Given the description of an element on the screen output the (x, y) to click on. 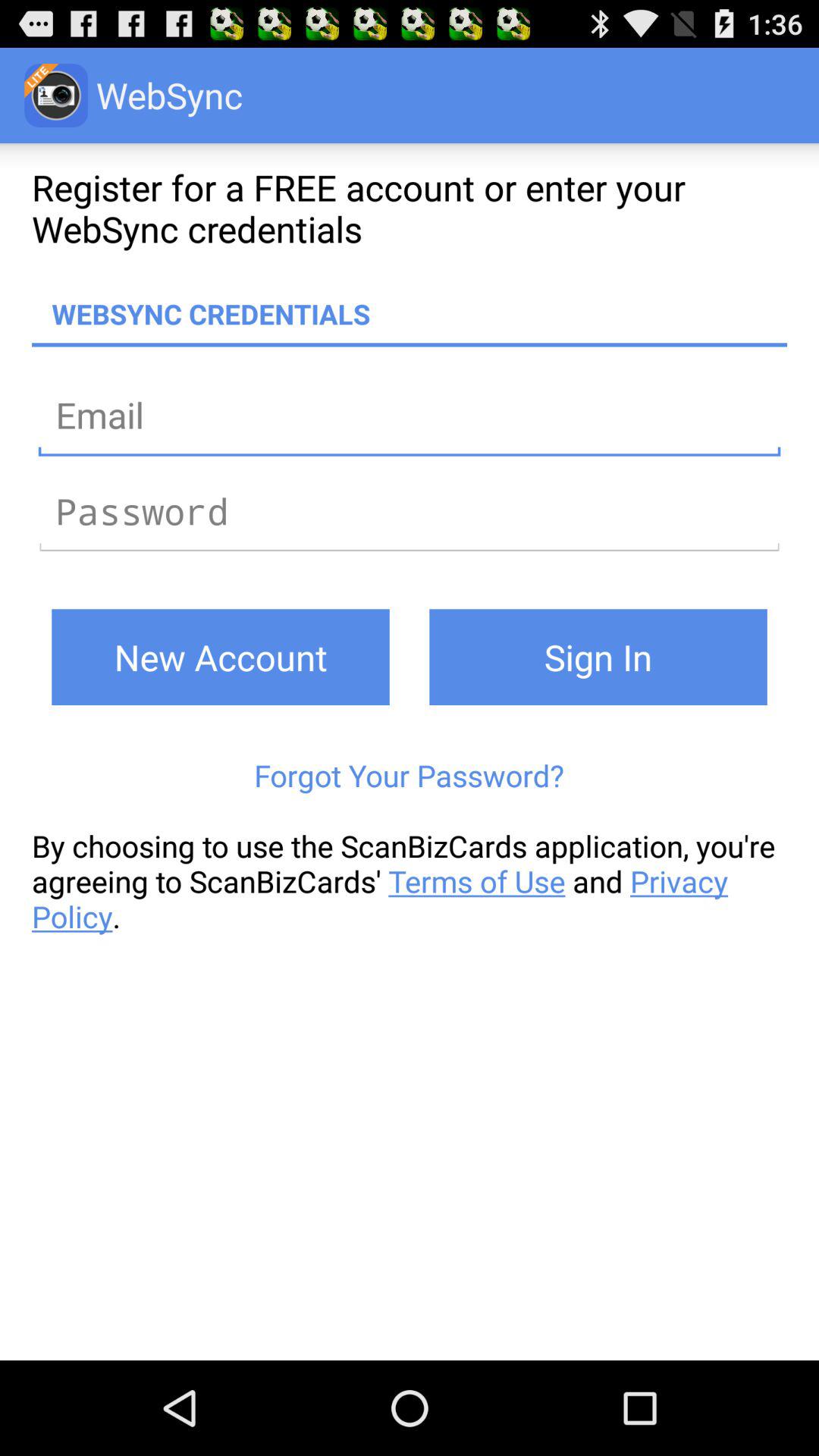
tap the button to the right of new account icon (598, 657)
